Given the description of an element on the screen output the (x, y) to click on. 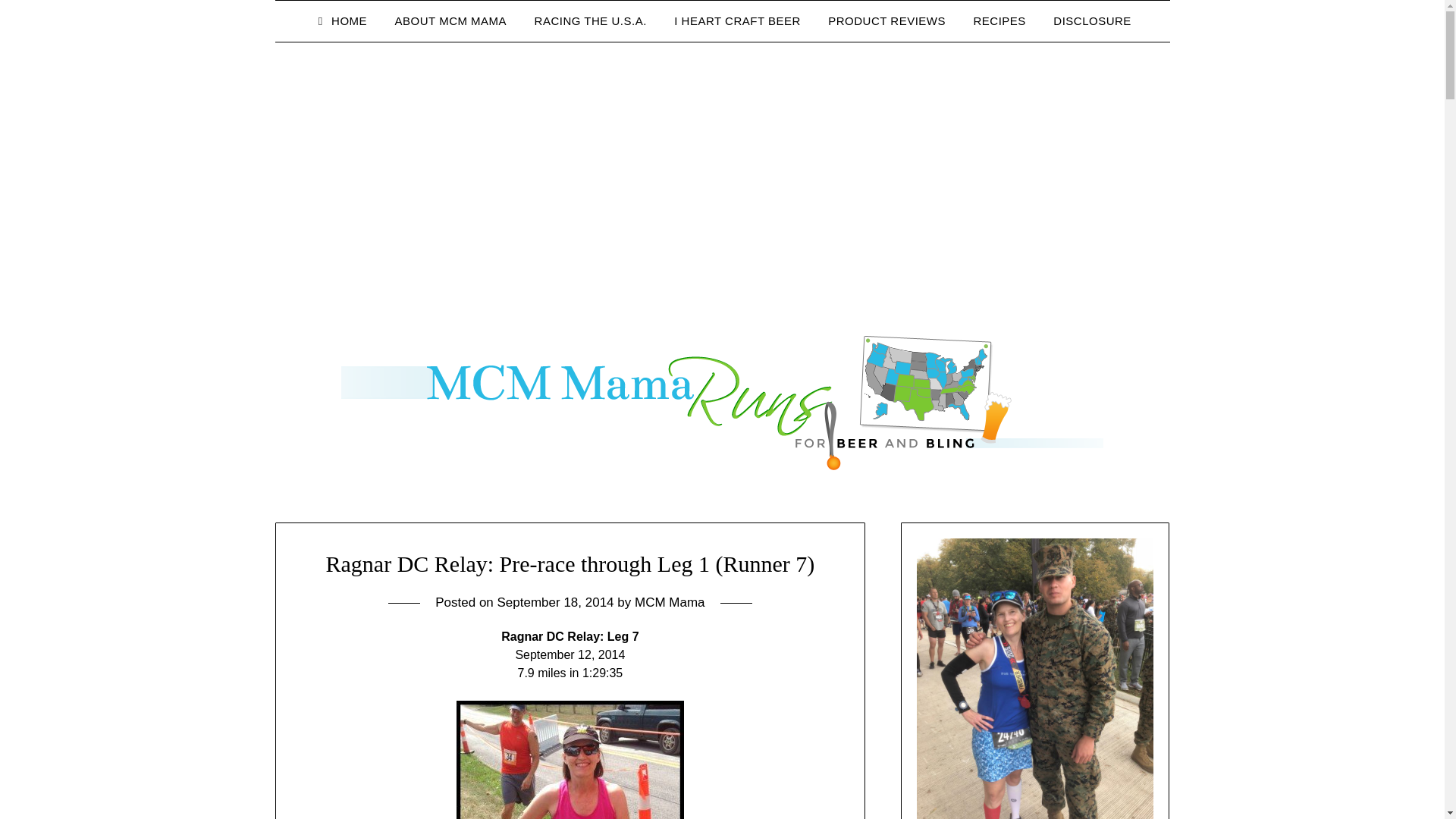
RECIPES (998, 20)
PRODUCT REVIEWS (886, 20)
DISCLOSURE (1091, 20)
MCM Mama (669, 602)
RACING THE U.S.A. (590, 20)
September 18, 2014 (555, 602)
ABOUT MCM MAMA (450, 20)
HOME (339, 20)
I HEART CRAFT BEER (737, 20)
